Given the description of an element on the screen output the (x, y) to click on. 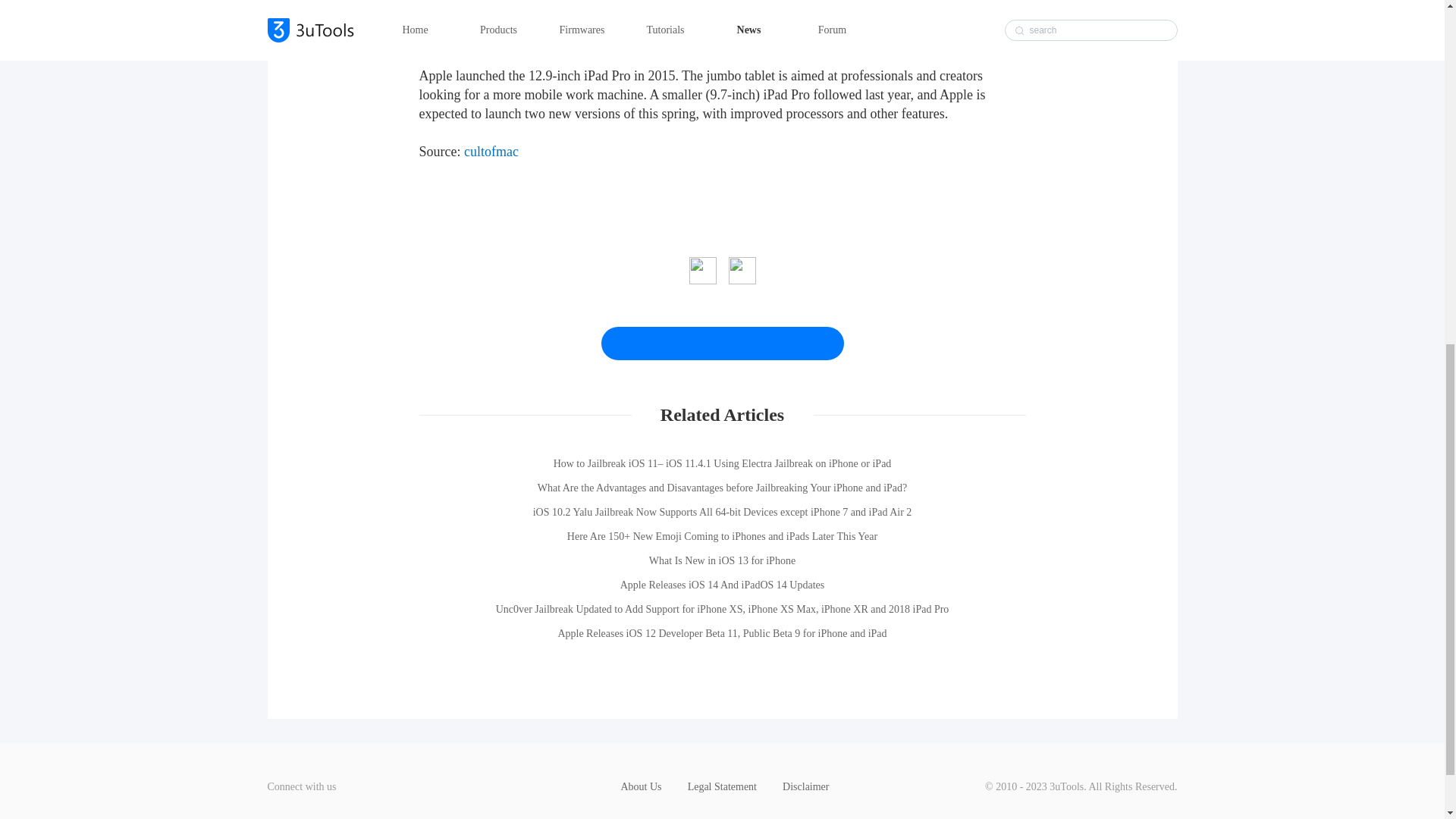
About Us (640, 786)
Facebook (345, 786)
cultofmac (491, 151)
Twitter (366, 786)
Legal Statement (722, 786)
Disclaimer (805, 786)
Apple Releases iOS 14 And iPadOS 14 Updates (722, 585)
Legal Statement (722, 786)
Disclaimer (805, 786)
About Us (640, 786)
What Is New in iOS 13 for iPhone (722, 560)
